Given the description of an element on the screen output the (x, y) to click on. 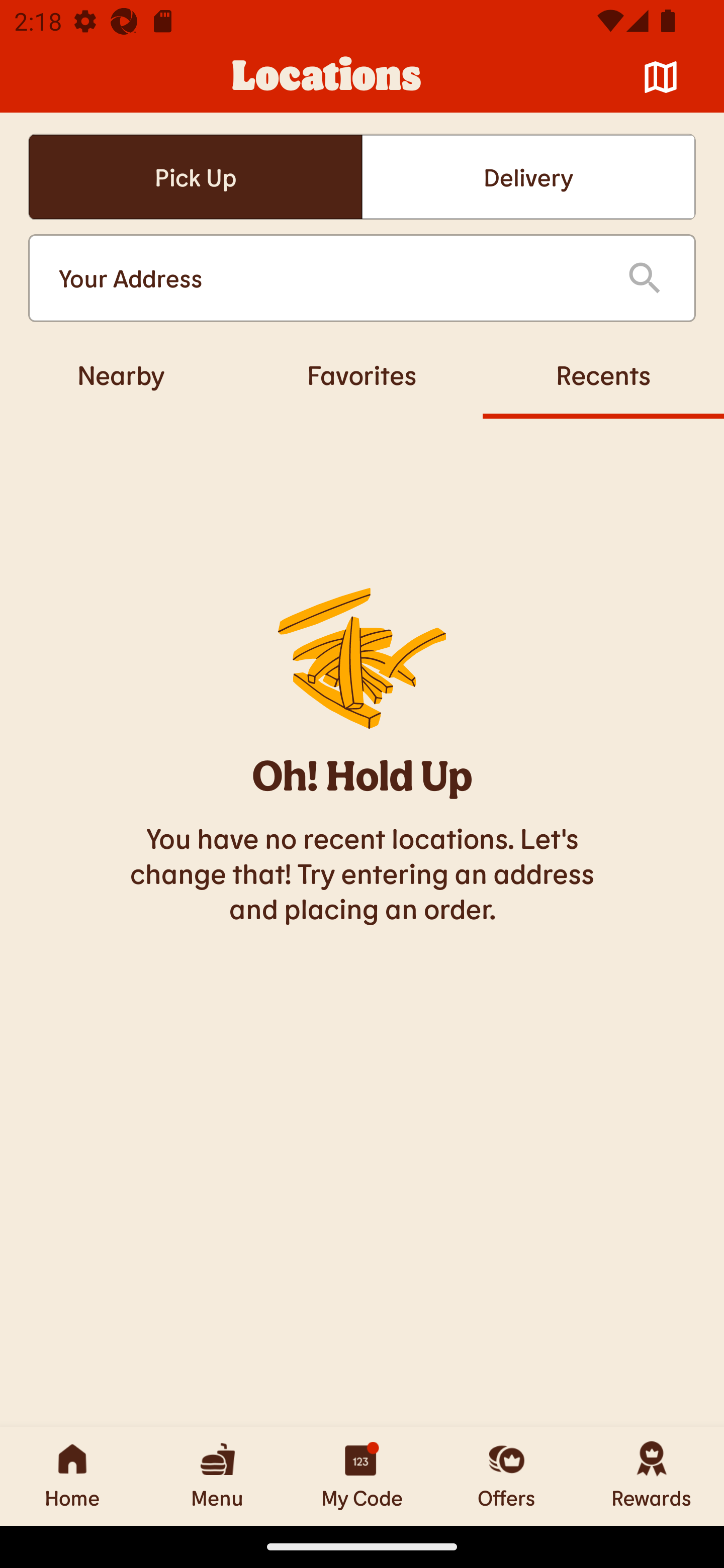
Map 󰦂 (660, 77)
Locations (326, 77)
Pick UpSelected Pick UpSelected Pick Up (195, 176)
Delivery Delivery Delivery (528, 176)
Your Address (327, 277)
Nearby (120, 374)
Favorites (361, 374)
Recents (603, 374)
Home (72, 1475)
Menu (216, 1475)
My Code (361, 1475)
Offers (506, 1475)
Rewards (651, 1475)
